Given the description of an element on the screen output the (x, y) to click on. 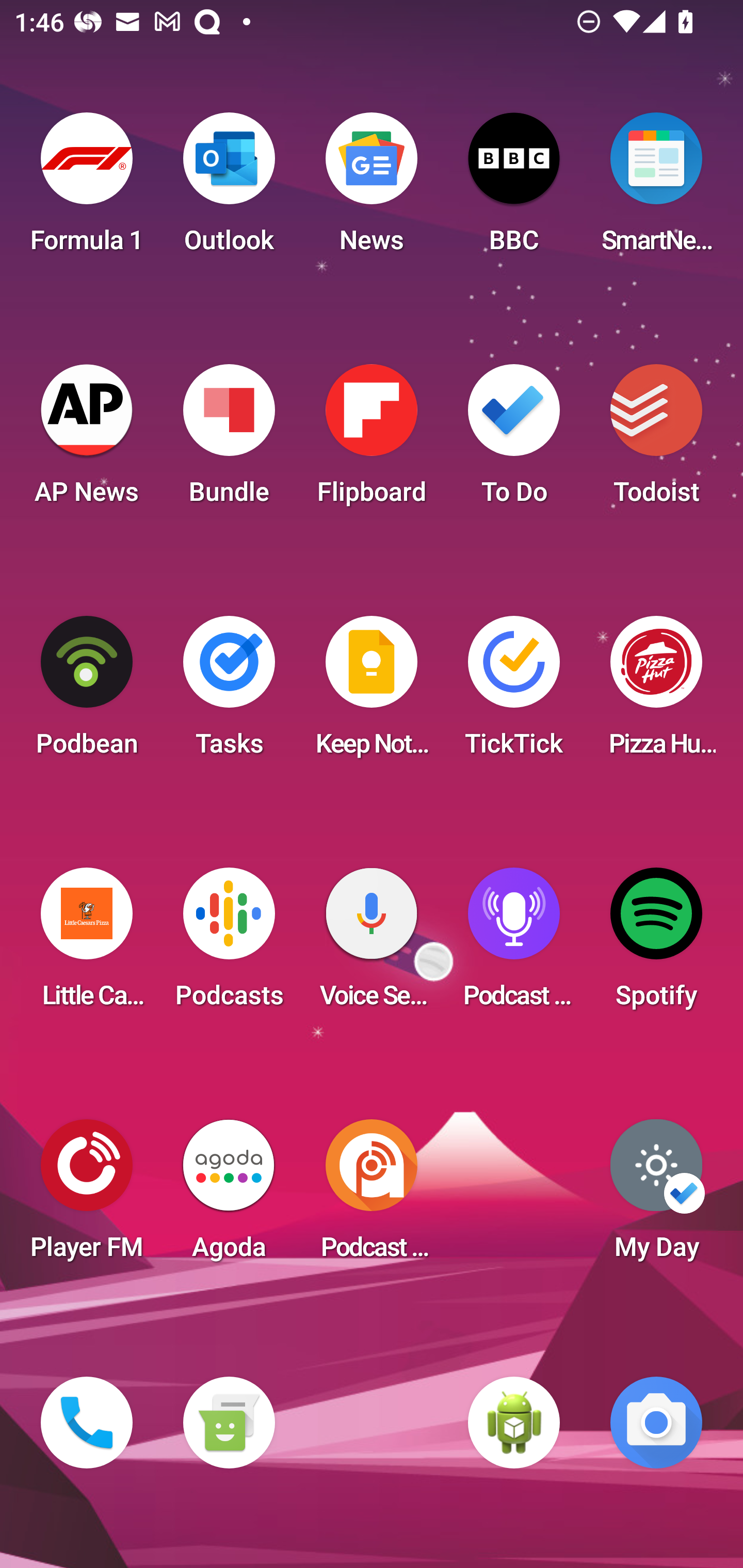
Formula 1 (86, 188)
Outlook (228, 188)
News (371, 188)
BBC (513, 188)
SmartNews (656, 188)
AP News (86, 440)
Bundle (228, 440)
Flipboard (371, 440)
To Do (513, 440)
Todoist (656, 440)
Podbean (86, 692)
Tasks (228, 692)
Keep Notes (371, 692)
TickTick (513, 692)
Pizza Hut HK & Macau (656, 692)
Little Caesars Pizza (86, 943)
Podcasts (228, 943)
Voice Search (371, 943)
Podcast Player (513, 943)
Spotify (656, 943)
Player FM (86, 1195)
Agoda (228, 1195)
Podcast Addict (371, 1195)
My Day (656, 1195)
Phone (86, 1422)
Messaging (228, 1422)
WebView Browser Tester (513, 1422)
Camera (656, 1422)
